Given the description of an element on the screen output the (x, y) to click on. 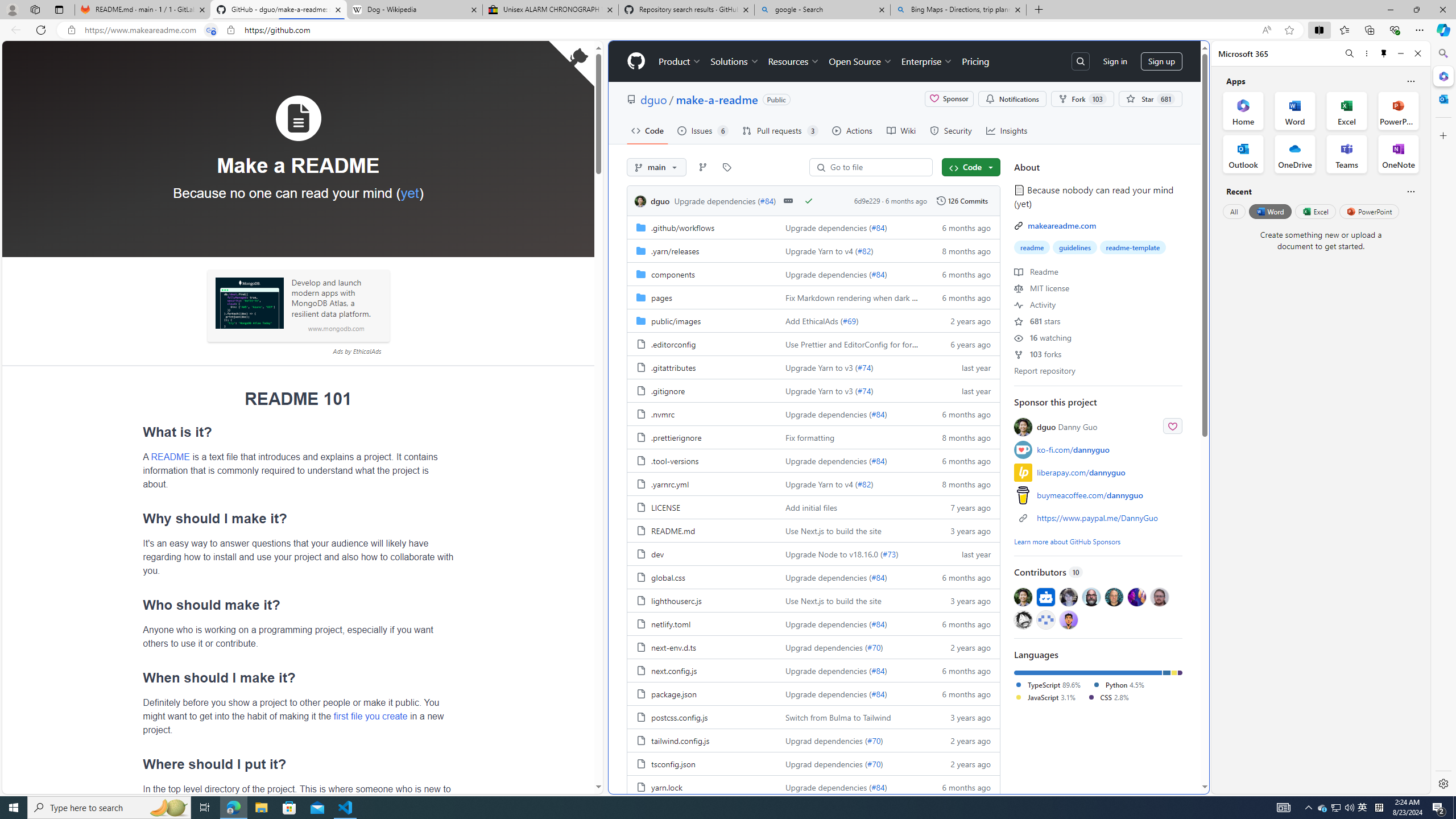
) (884, 786)
public/images, (Directory) (675, 320)
#73 (889, 553)
Upgrade dependencies (#84) (849, 786)
Upgrade Yarn to v4 (#82) (849, 483)
yarn.lock, (File) (701, 786)
@coderberry (1090, 596)
.github/workflows, (Directory) (701, 227)
Fork 103 (1081, 98)
Pull requests3 (781, 130)
Open Source (860, 60)
Solutions (735, 60)
Open Source (860, 60)
Word (1269, 210)
